Given the description of an element on the screen output the (x, y) to click on. 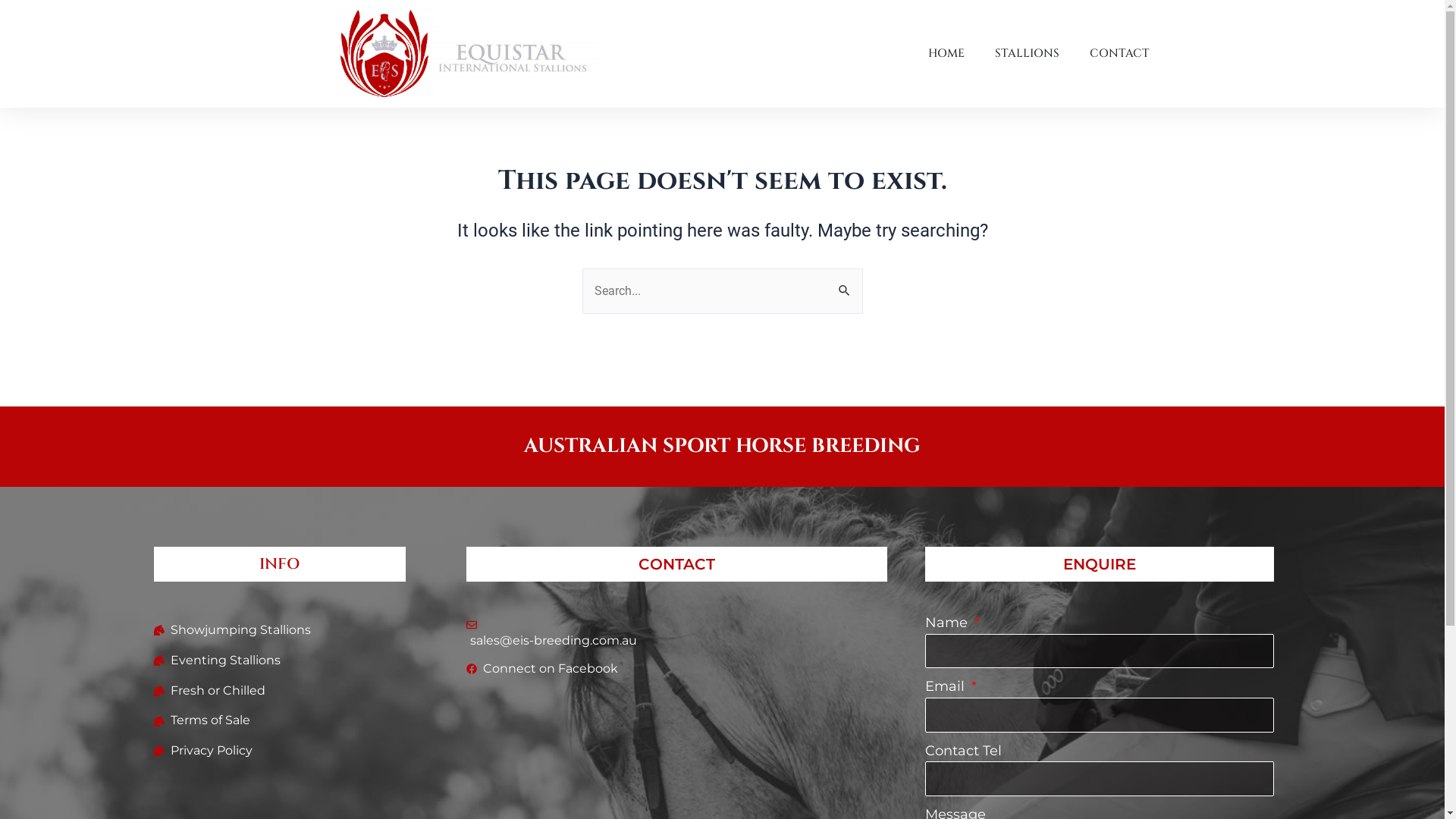
Connect on Facebook Element type: text (677, 669)
Eventing Stallions Element type: text (278, 660)
Privacy Policy Element type: text (278, 751)
STALLIONS Element type: text (1026, 53)
CONTACT Element type: text (1119, 53)
Fresh or Chilled Element type: text (278, 690)
Showjumping Stallions Element type: text (278, 630)
Terms of Sale Element type: text (278, 720)
sales@eis-breeding.com.au Element type: text (677, 635)
HOME Element type: text (946, 53)
Search Element type: text (845, 284)
